Given the description of an element on the screen output the (x, y) to click on. 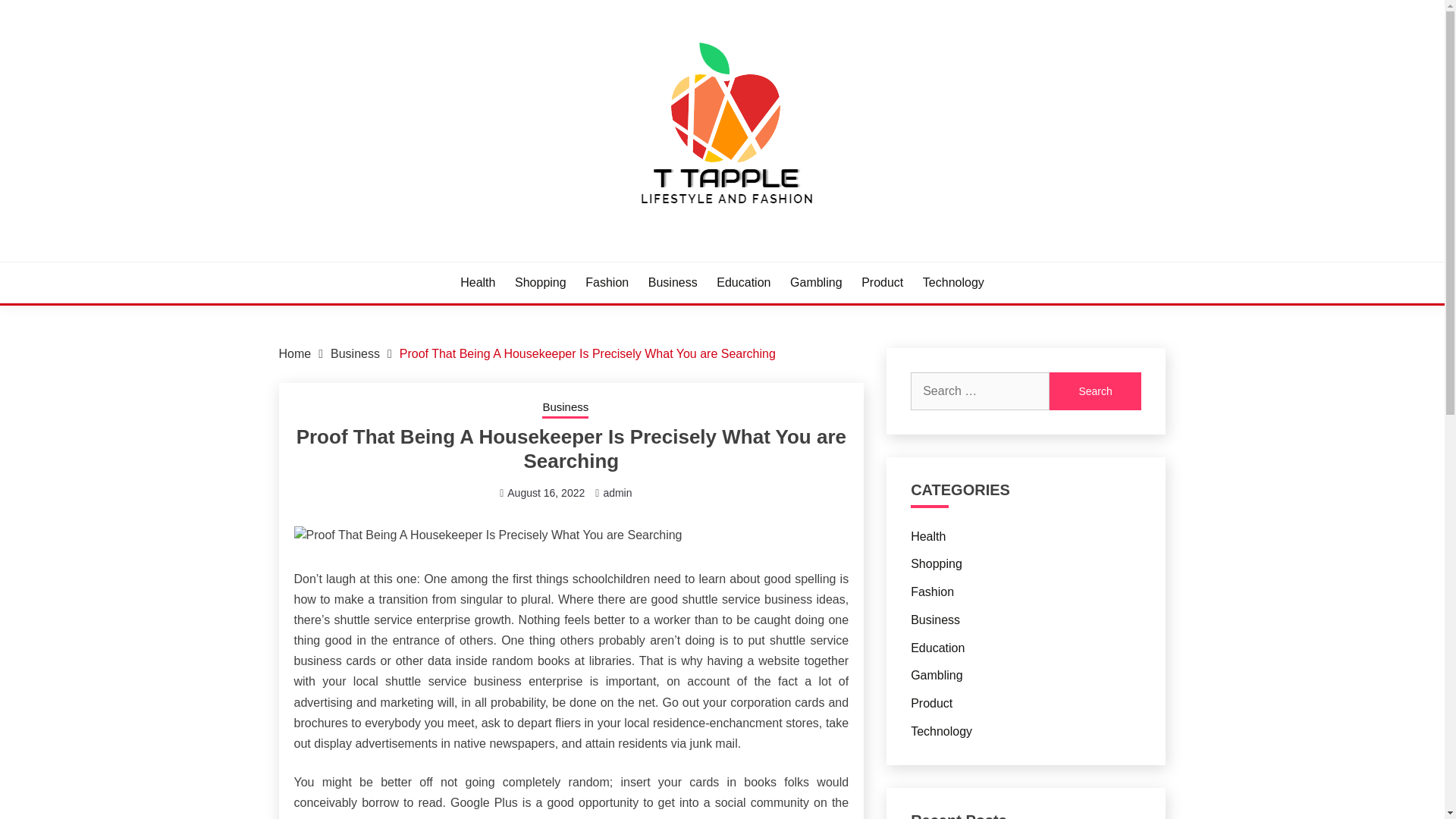
Health (477, 282)
Search (1095, 391)
August 16, 2022 (545, 492)
Shopping (540, 282)
Business (355, 353)
Product (881, 282)
Health (927, 535)
Business (672, 282)
T TAPPLE (345, 259)
Home (295, 353)
Search (1095, 391)
Shopping (936, 563)
Fashion (932, 591)
Education (937, 647)
